Given the description of an element on the screen output the (x, y) to click on. 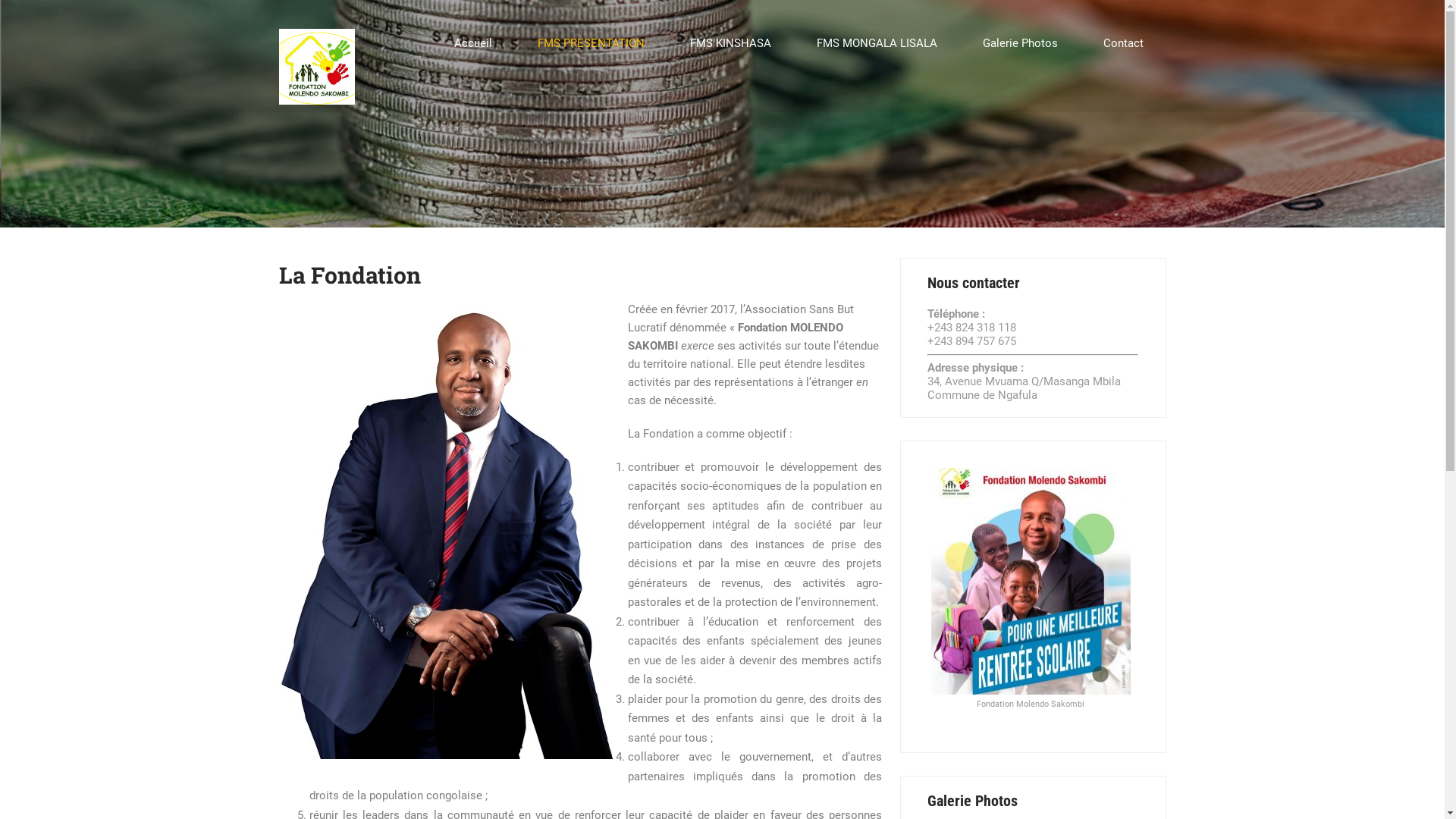
Contact Element type: text (1122, 43)
Fondation Molendo Sakombi Element type: hover (316, 14)
FMS PRESENTATION Element type: text (590, 43)
FMS MONGALA LISALA Element type: text (876, 43)
Galerie Photos Element type: text (1020, 43)
Accueil Element type: text (472, 43)
FMS KINSHASA Element type: text (730, 43)
